Given the description of an element on the screen output the (x, y) to click on. 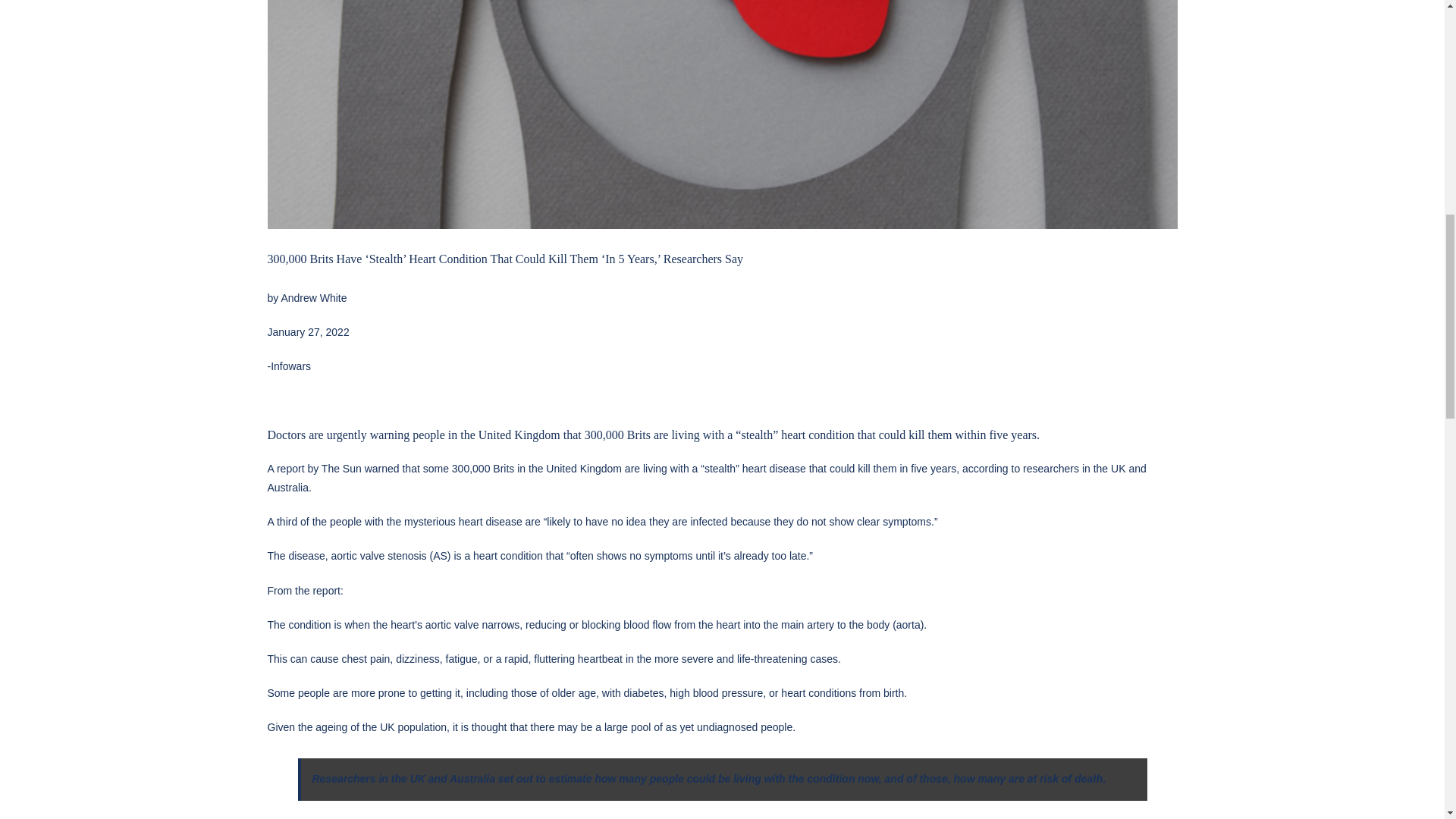
by Andrew White  (307, 297)
